Given the description of an element on the screen output the (x, y) to click on. 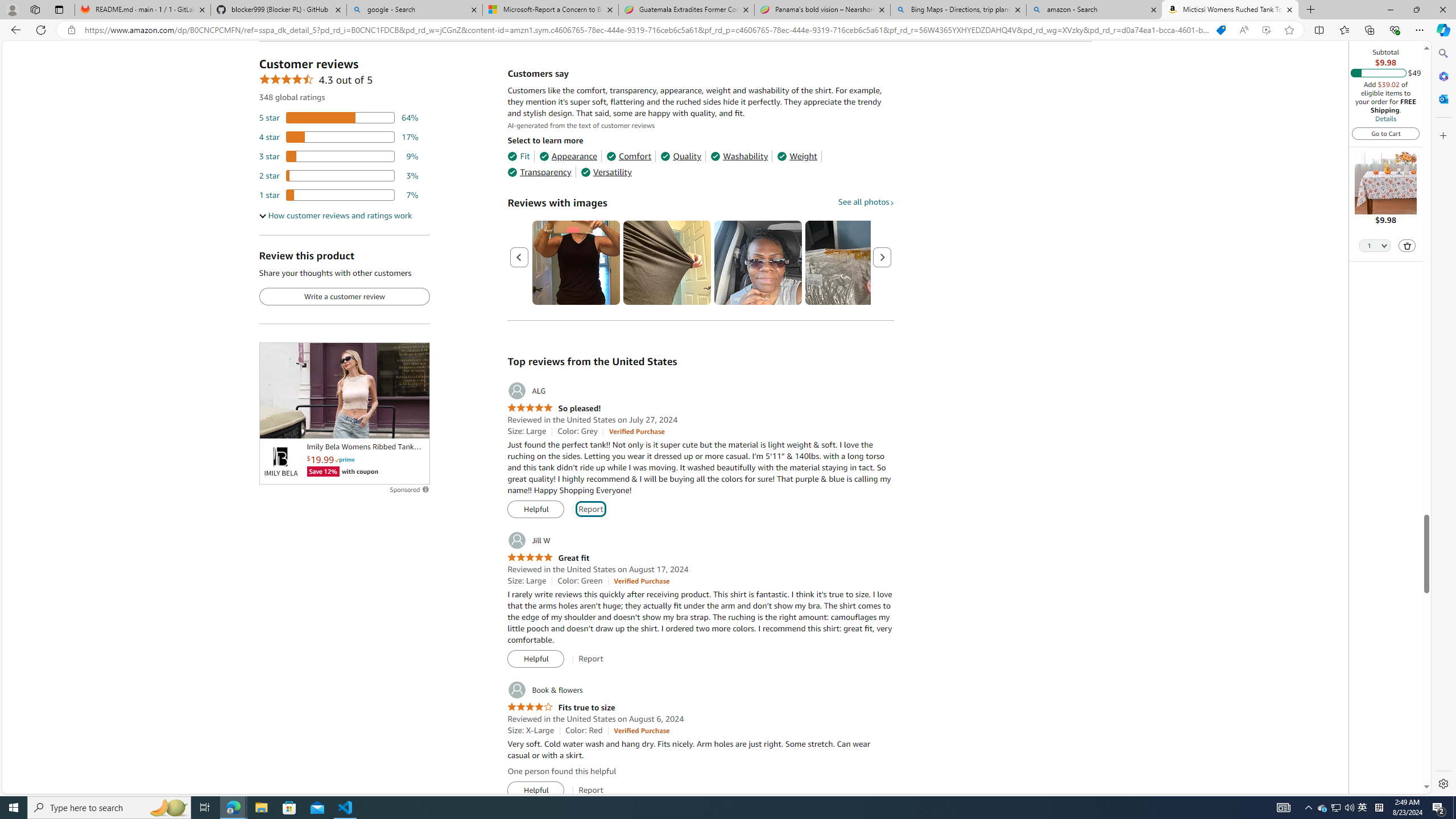
See all photos (865, 201)
Class: a-carousel-card (757, 262)
Customer Image (758, 262)
Book & flowers (544, 690)
Sponsored ad (344, 390)
